Given the description of an element on the screen output the (x, y) to click on. 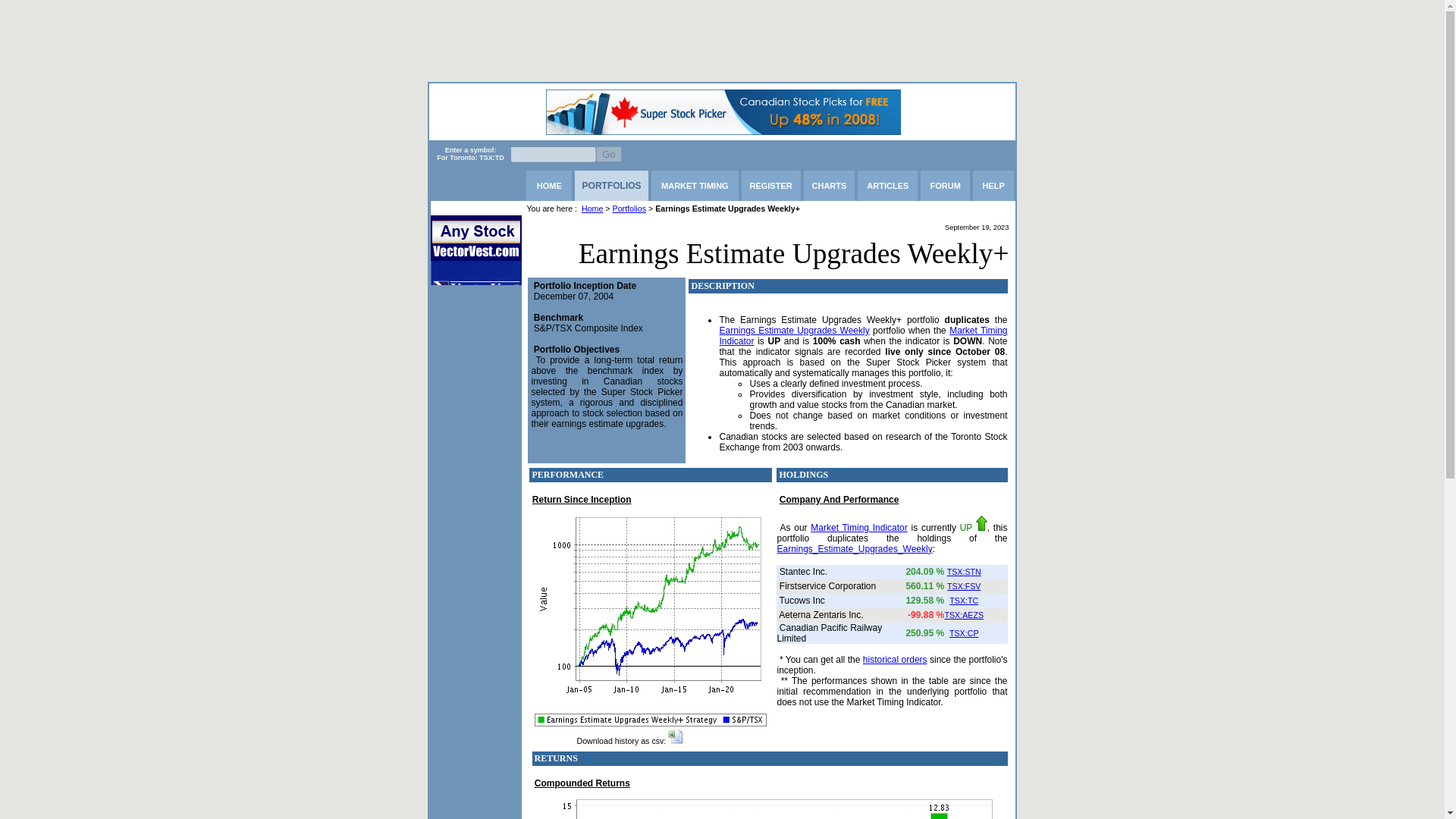
PORTFOLIOS (612, 185)
Market Timing Indicator (858, 527)
HOME (549, 185)
Market Timing Indicator (863, 335)
Go (608, 154)
historical orders (895, 659)
Portfolios (629, 207)
HELP (992, 185)
VectorVest (475, 238)
TSX:CP (963, 633)
